Given the description of an element on the screen output the (x, y) to click on. 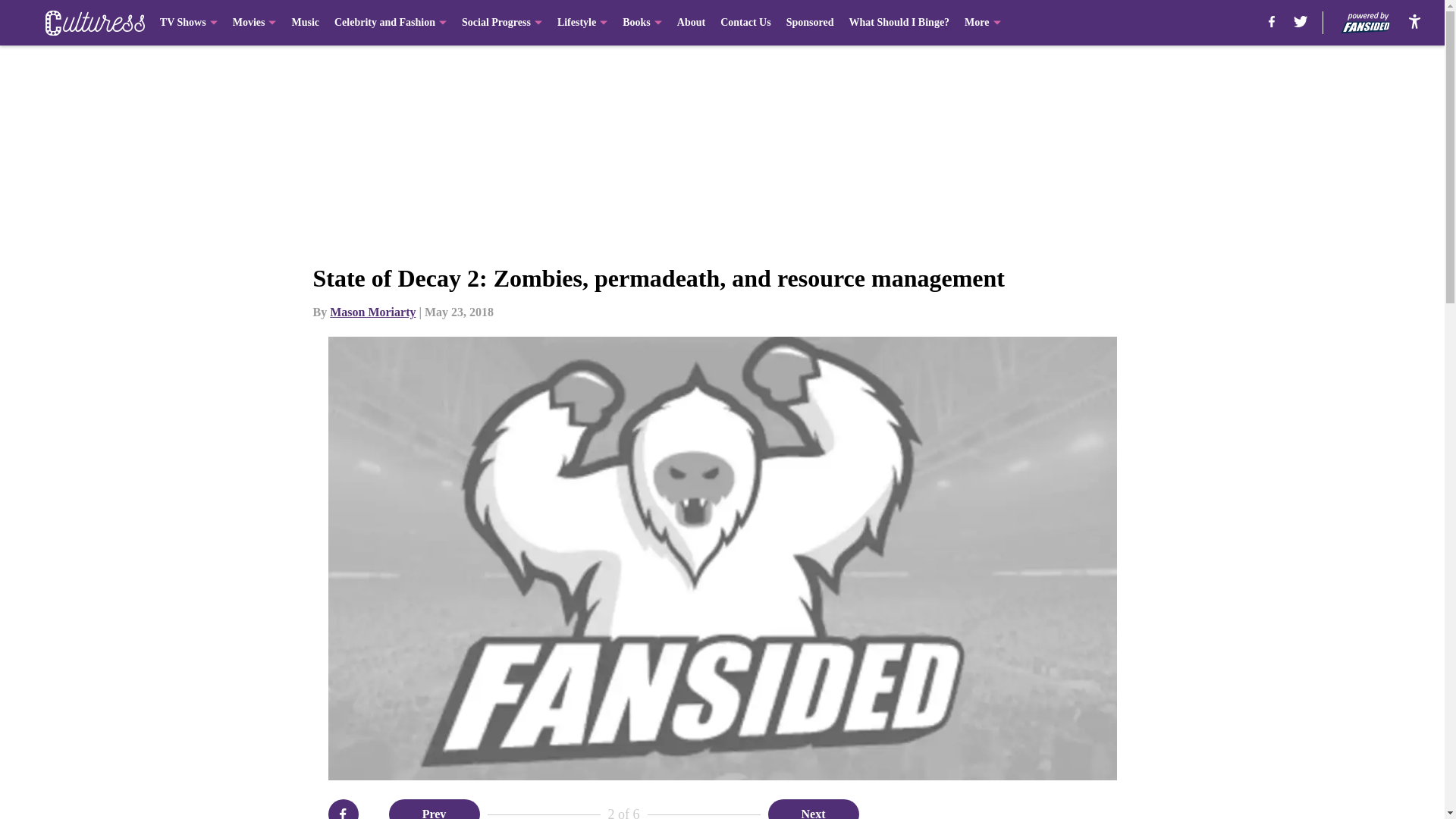
Music (304, 22)
